Given the description of an element on the screen output the (x, y) to click on. 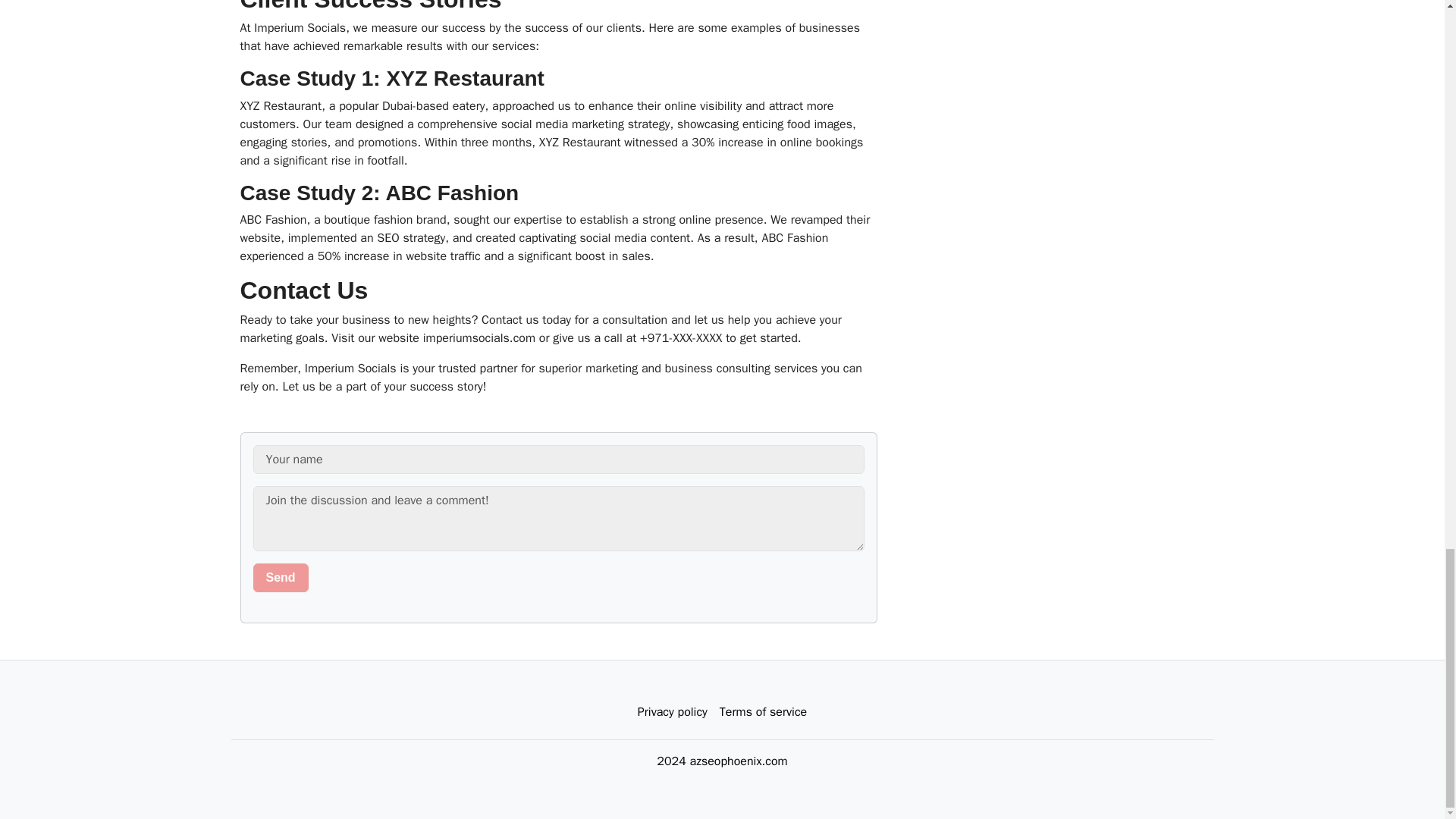
Terms of service (762, 711)
Send (280, 577)
Send (280, 577)
Privacy policy (672, 711)
